Given the description of an element on the screen output the (x, y) to click on. 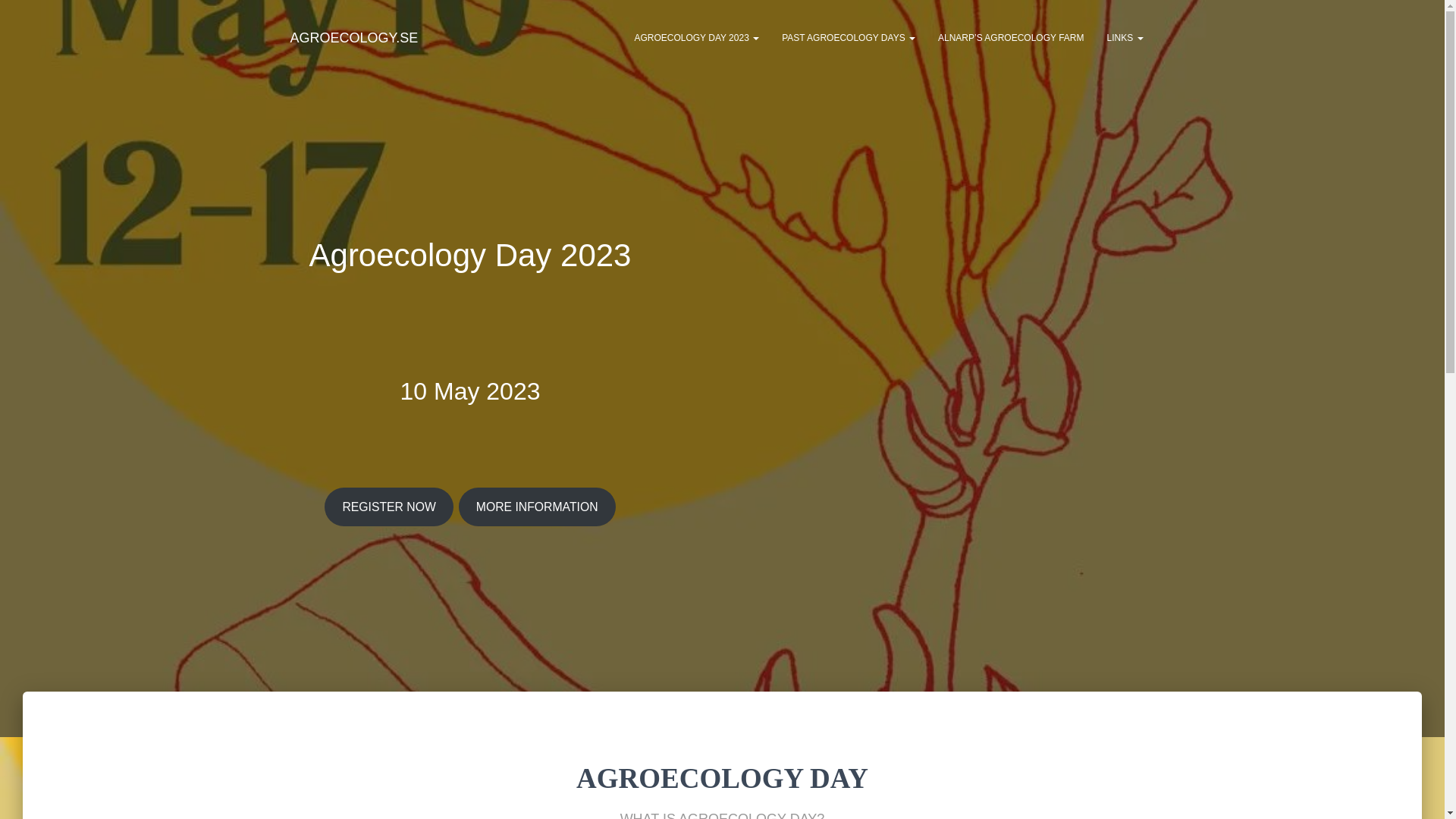
AGROECOLOGY.SE (354, 37)
AGROECOLOGY.SE (354, 37)
MORE INFORMATION (536, 506)
LINKS (1124, 37)
PAST AGROECOLOGY DAYS (848, 37)
REGISTER NOW (388, 506)
AGROECOLOGY DAY 2023 (696, 37)
PAST AGROECOLOGY DAYS (848, 37)
AGROECOLOGY DAY 2023 (696, 37)
